Given the description of an element on the screen output the (x, y) to click on. 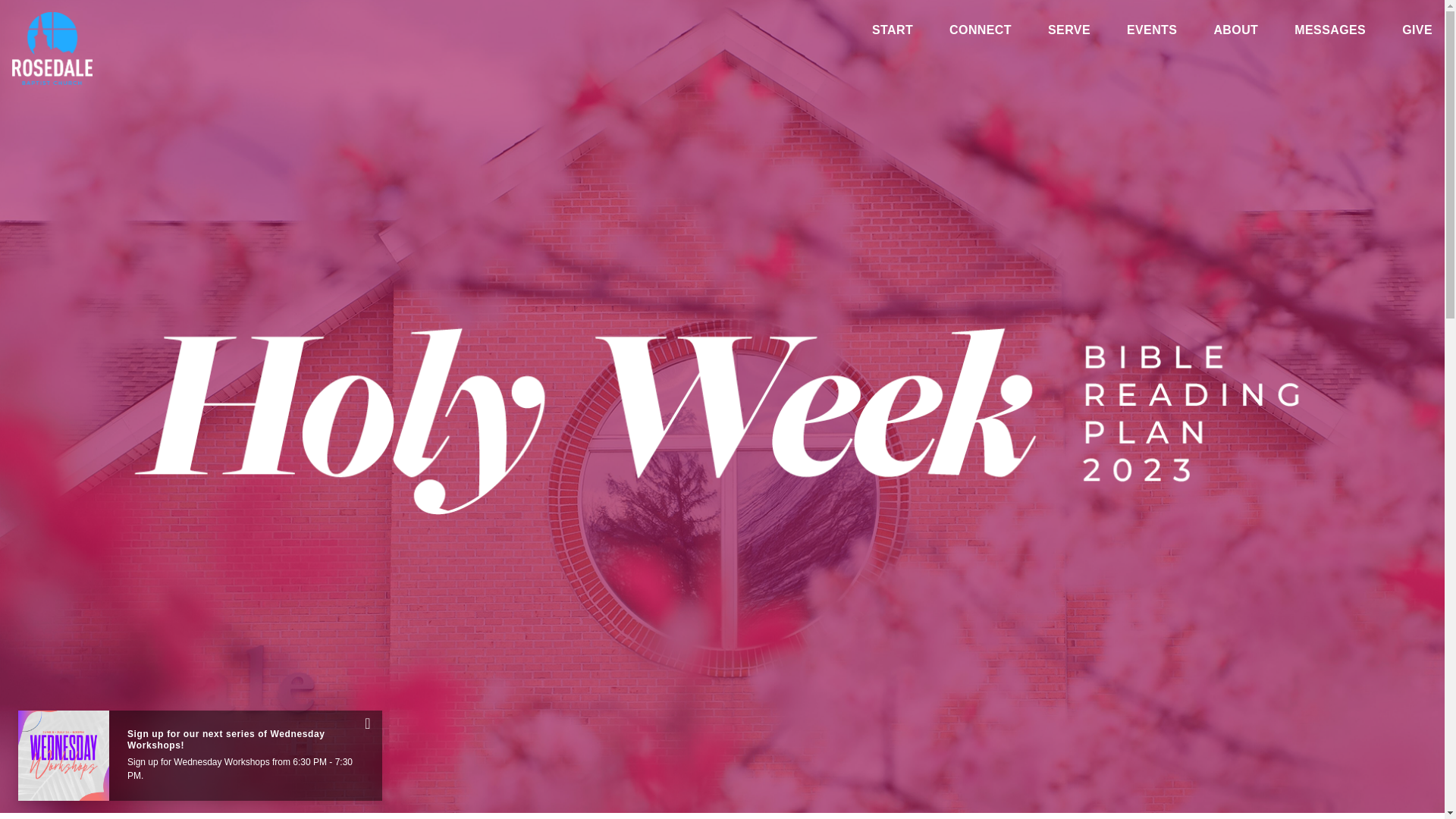
SERVE (1069, 33)
START (892, 33)
GIVE (1417, 33)
ABOUT (1234, 33)
MESSAGES (1329, 33)
EVENTS (1151, 33)
CONNECT (980, 33)
